Given the description of an element on the screen output the (x, y) to click on. 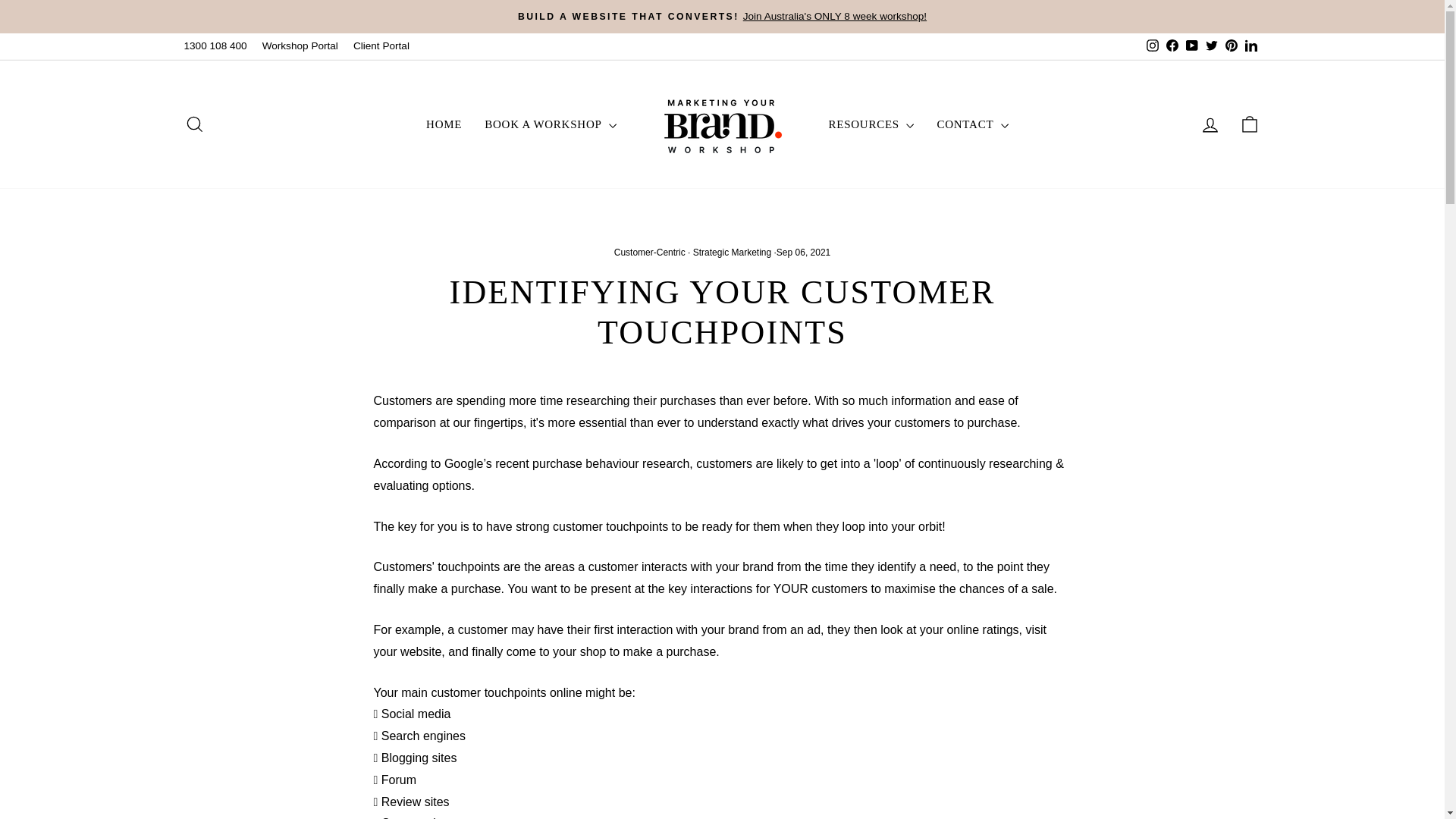
instagram (1152, 45)
ICON-SEARCH (194, 124)
twitter (1211, 45)
ACCOUNT (1210, 124)
ICON-BAG-MINIMAL (1249, 124)
